Given the description of an element on the screen output the (x, y) to click on. 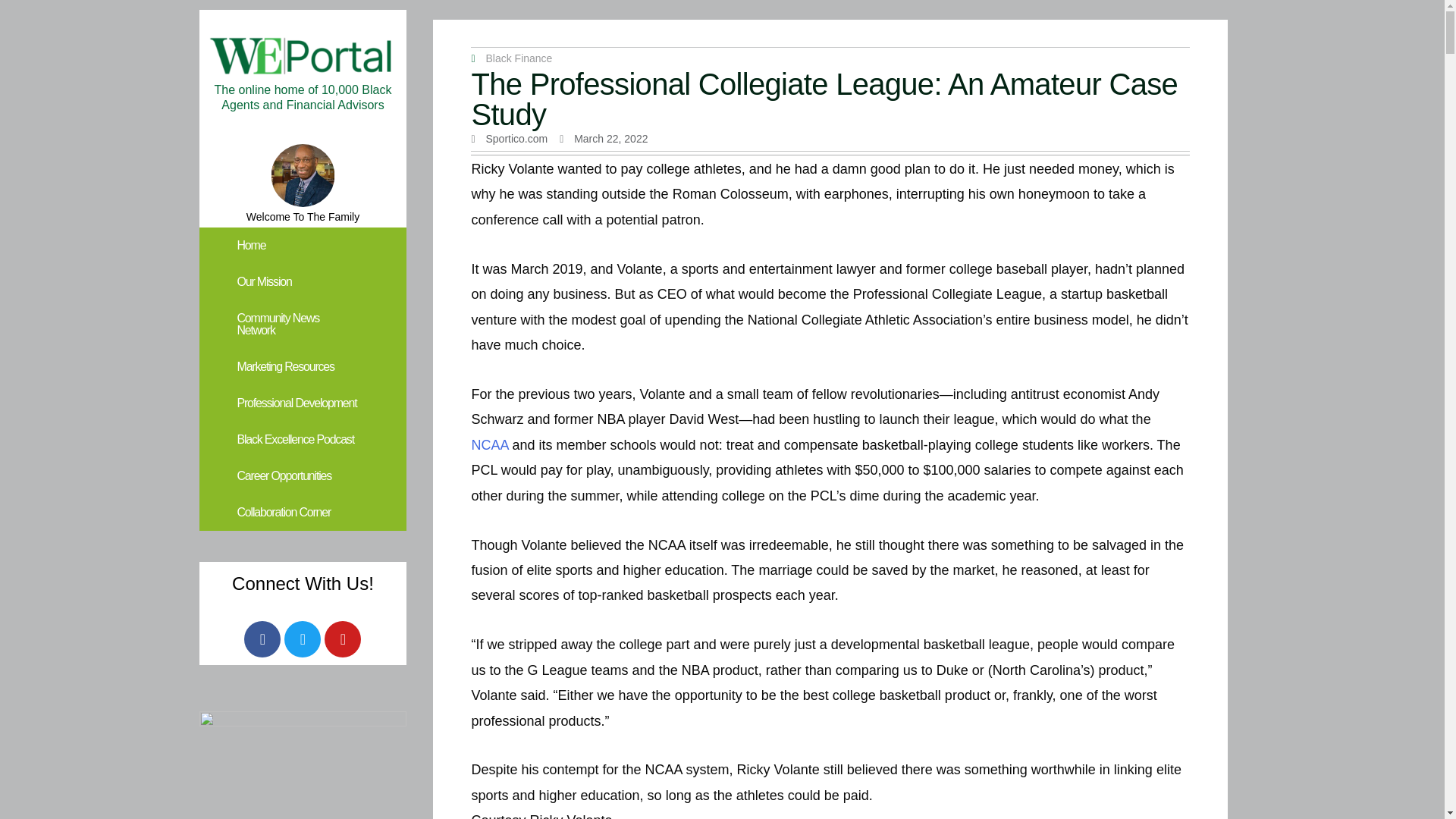
March 22, 2022 (603, 139)
Sportico.com (508, 139)
Home (302, 245)
Our Mission (302, 281)
Black Excellence Podcast (302, 439)
Marketing Resources (302, 366)
Community News Network (302, 324)
Collaboration Corner (302, 512)
Career Opportunities (302, 475)
Professional Development (302, 402)
NCAA (489, 444)
